Given the description of an element on the screen output the (x, y) to click on. 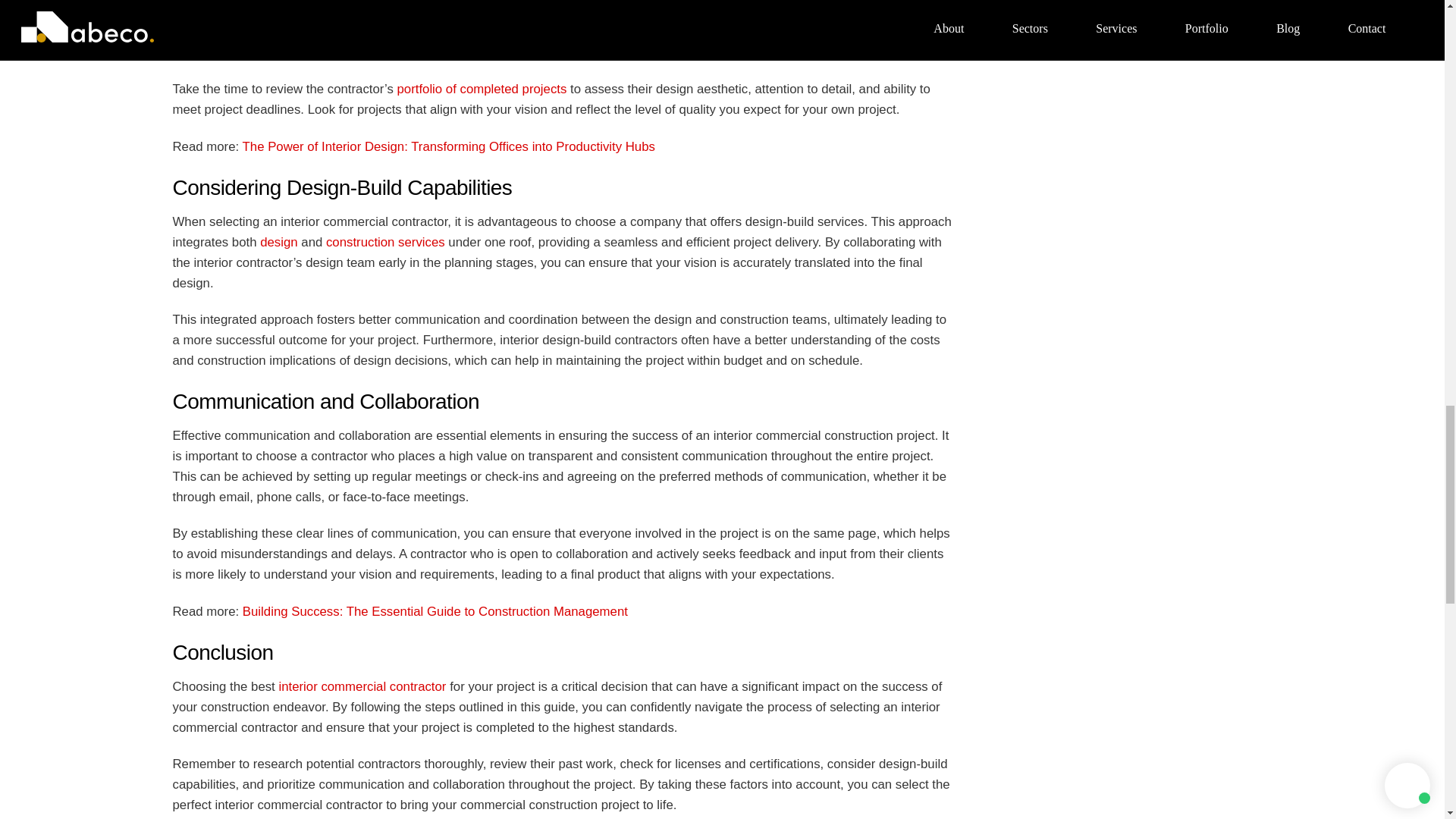
interior commercial contractor (361, 686)
interior commercial contractor (464, 11)
design (278, 242)
construction services (385, 242)
portfolio of completed projects (481, 88)
